Given the description of an element on the screen output the (x, y) to click on. 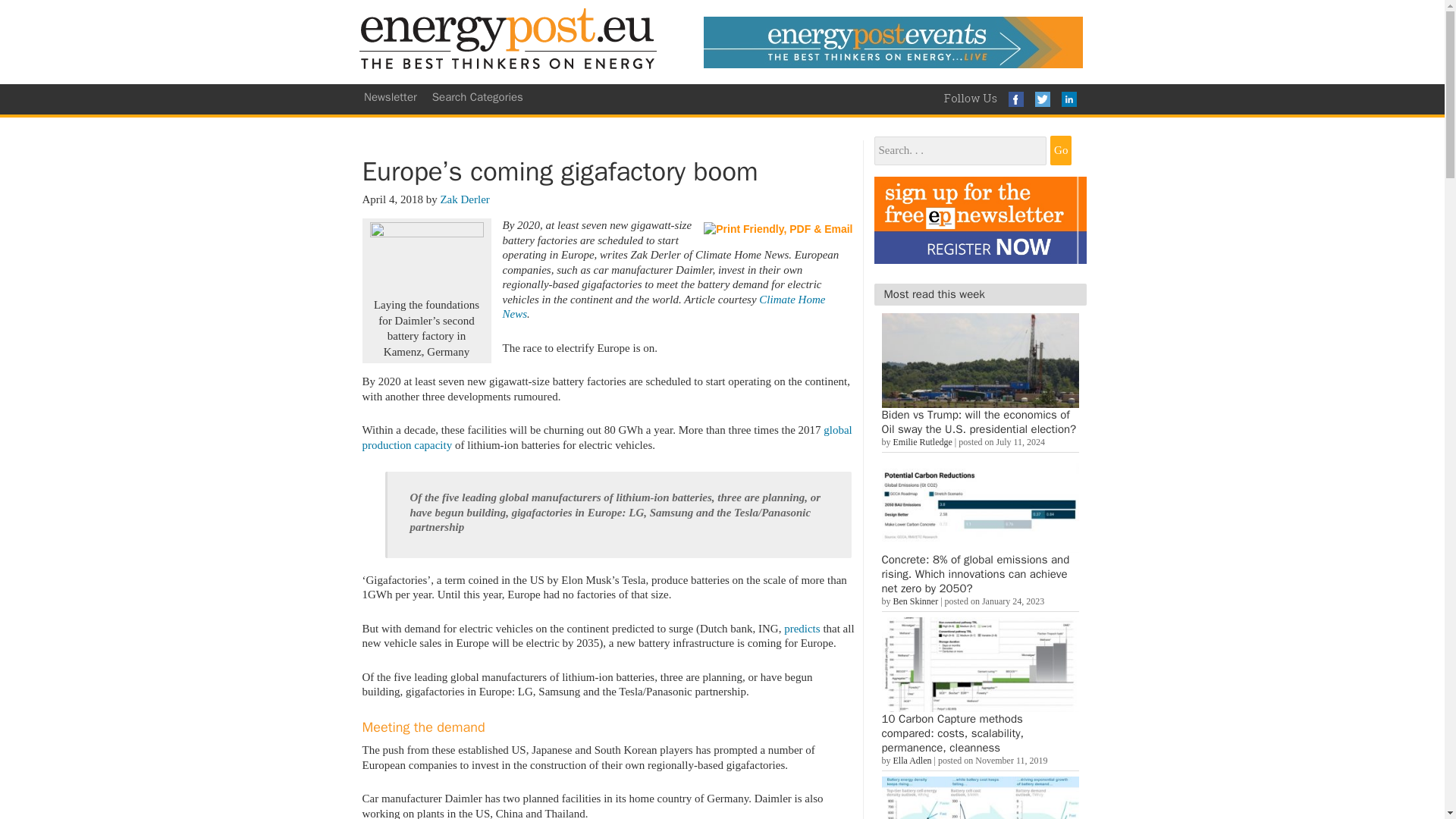
Zak Derler (464, 199)
Posts by Zak Derler (464, 199)
Climate Home News (663, 307)
Search Categories (478, 97)
predicts (801, 628)
Emilie Rutledge (922, 441)
global production capacity (606, 437)
Newsletter (390, 97)
Energy Post (508, 41)
